Given the description of an element on the screen output the (x, y) to click on. 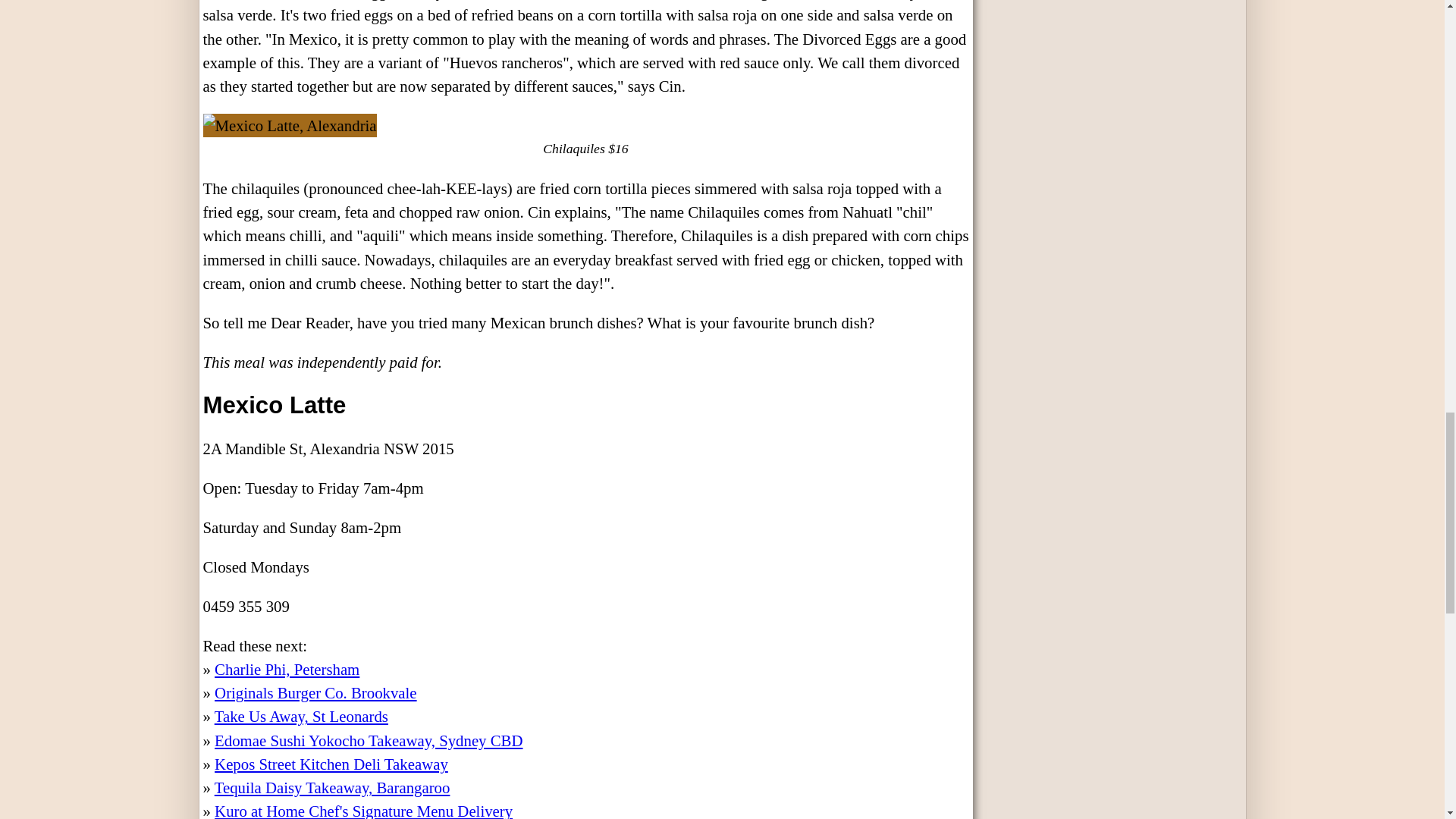
Kuro at Home Chef's Signature Menu Delivery (363, 810)
Edomae Sushi Yokocho Takeaway, Sydney CBD (368, 740)
Take Us Away, St Leonards (301, 715)
Originals Burger Co. Brookvale (315, 692)
Tequila Daisy Takeaway, Barangaroo (331, 787)
Charlie Phi, Petersham (286, 669)
Kepos Street Kitchen Deli Takeaway (331, 764)
